Given the description of an element on the screen output the (x, y) to click on. 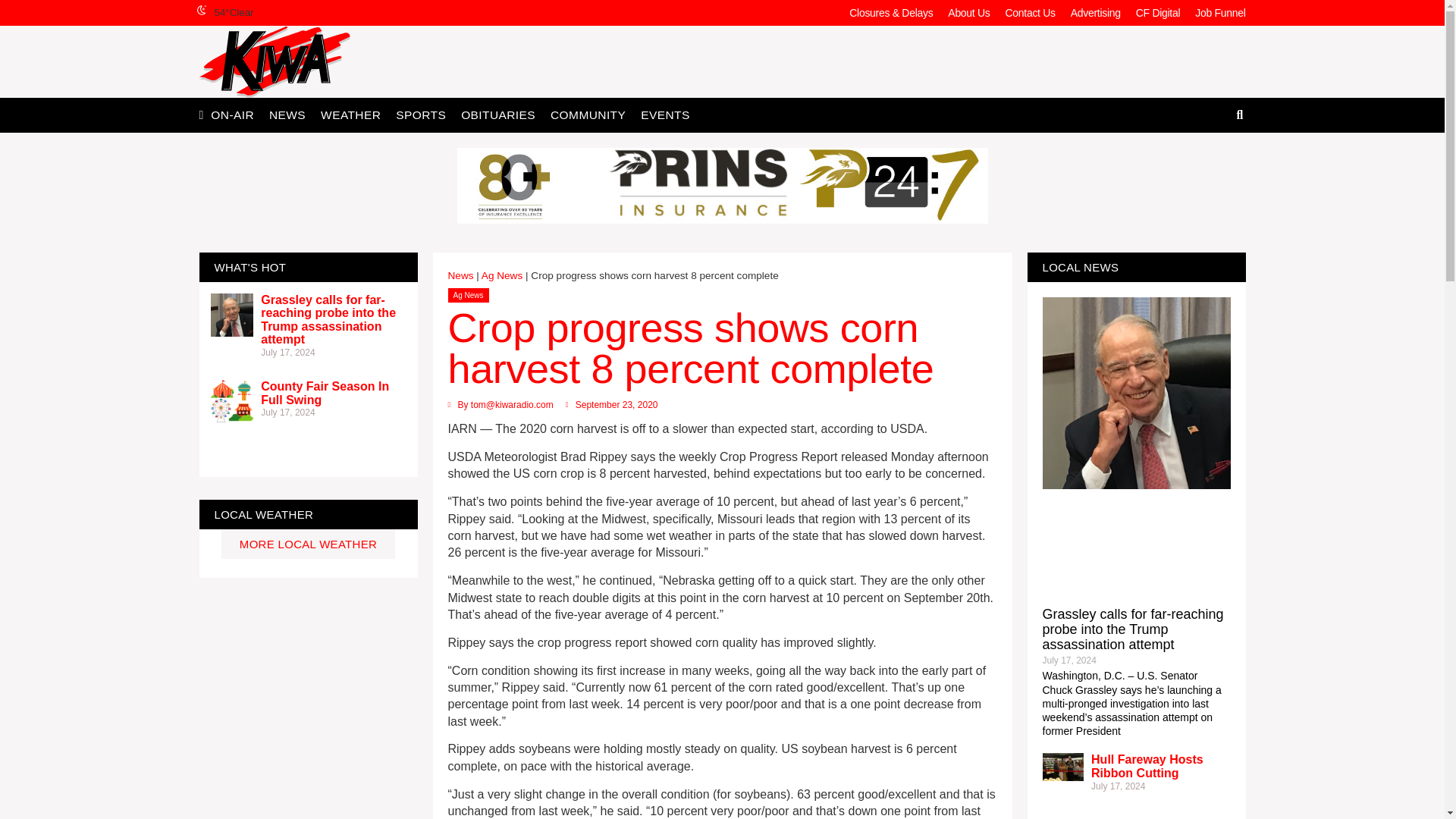
Contact Us (1029, 12)
OBITUARIES (497, 114)
Advertising (1095, 12)
CF Digital (1158, 12)
COMMUNITY (588, 114)
EVENTS (665, 114)
ON-AIR (232, 114)
Job Funnel (1220, 12)
About Us (968, 12)
WEATHER (350, 114)
NEWS (287, 114)
SPORTS (420, 114)
